Given the description of an element on the screen output the (x, y) to click on. 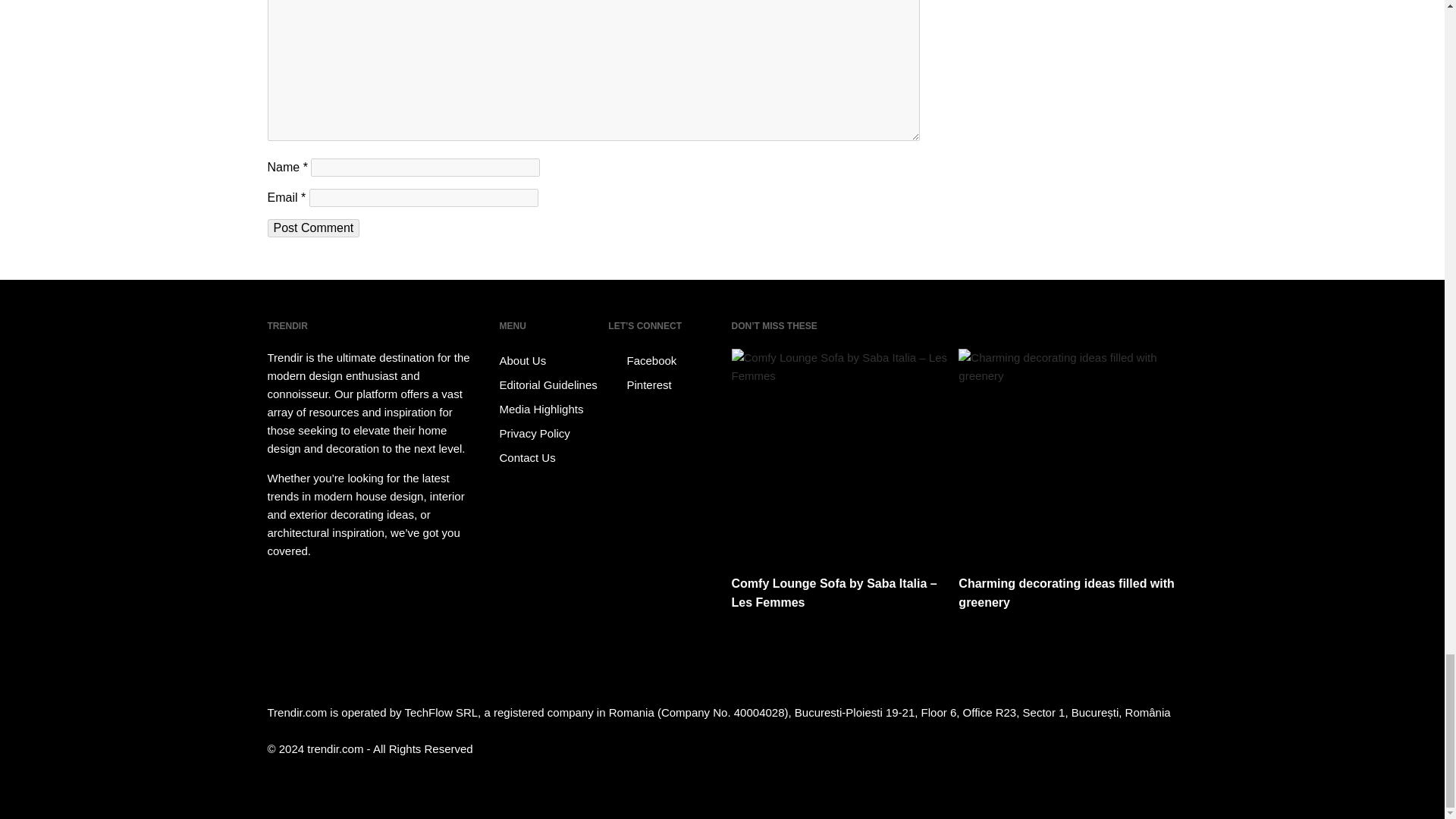
Media Highlights - Trendir (551, 409)
Post Comment (312, 228)
Trendir Editorial Guidelines (551, 385)
About Us - Trendir (551, 360)
